Given the description of an element on the screen output the (x, y) to click on. 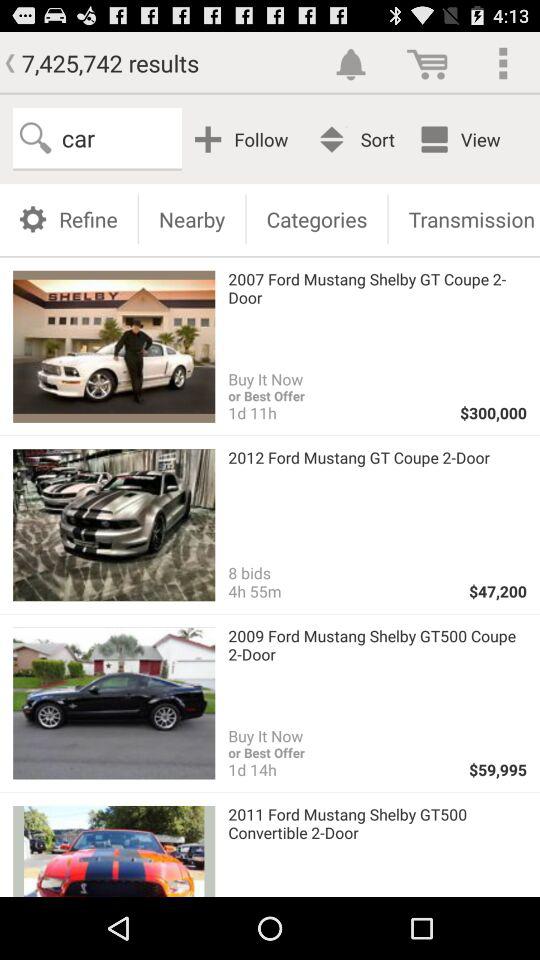
press the transmission button (464, 218)
